Given the description of an element on the screen output the (x, y) to click on. 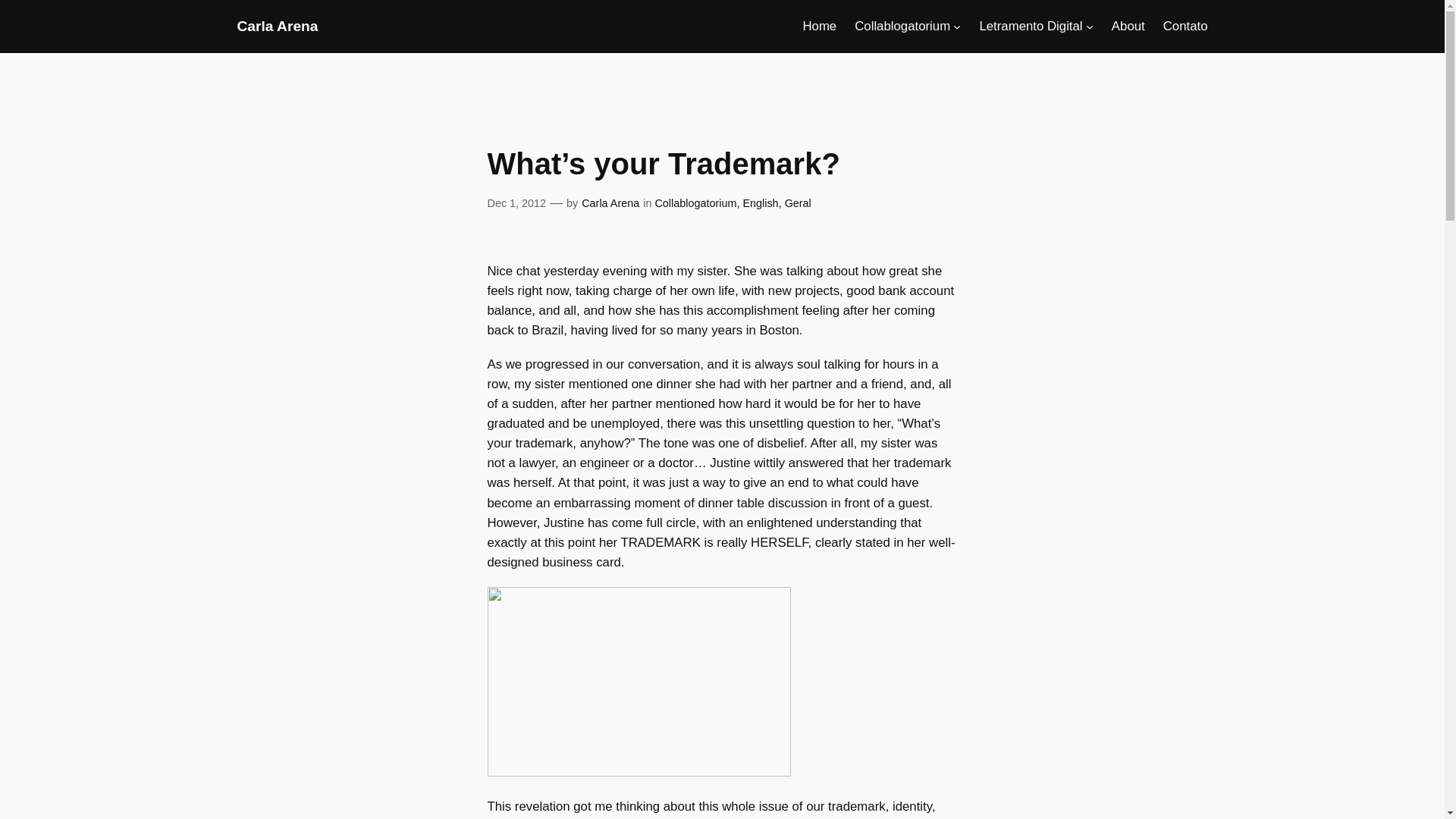
Carla Arena (276, 26)
Collablogatorium (694, 203)
Collablogatorium (902, 26)
Dec 1, 2012 (516, 203)
Home (818, 26)
About (1128, 26)
Contato (1185, 26)
English (759, 203)
Carla Arena (609, 203)
Geral (797, 203)
